Given the description of an element on the screen output the (x, y) to click on. 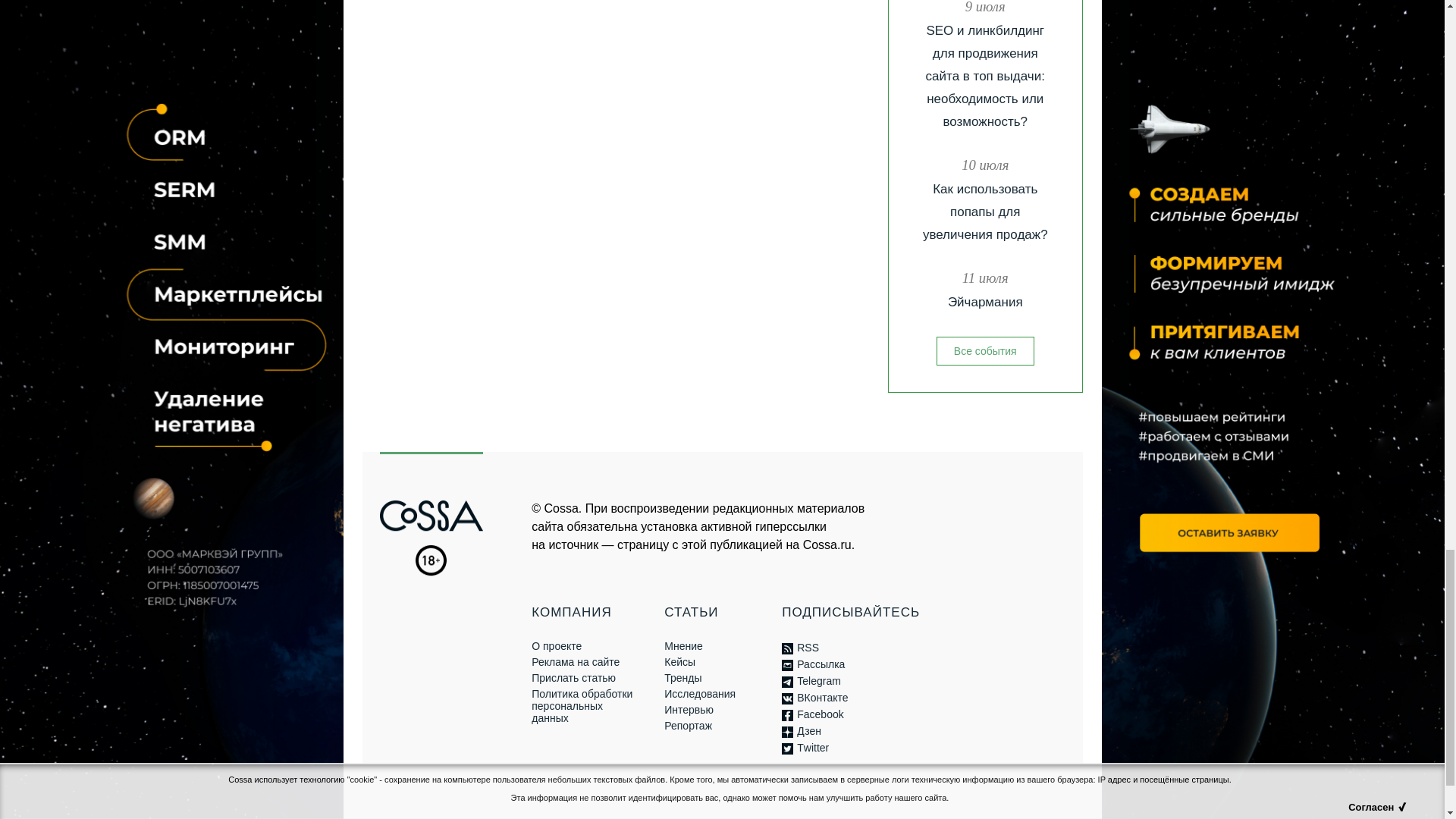
LiveInternet (542, 806)
